Given the description of an element on the screen output the (x, y) to click on. 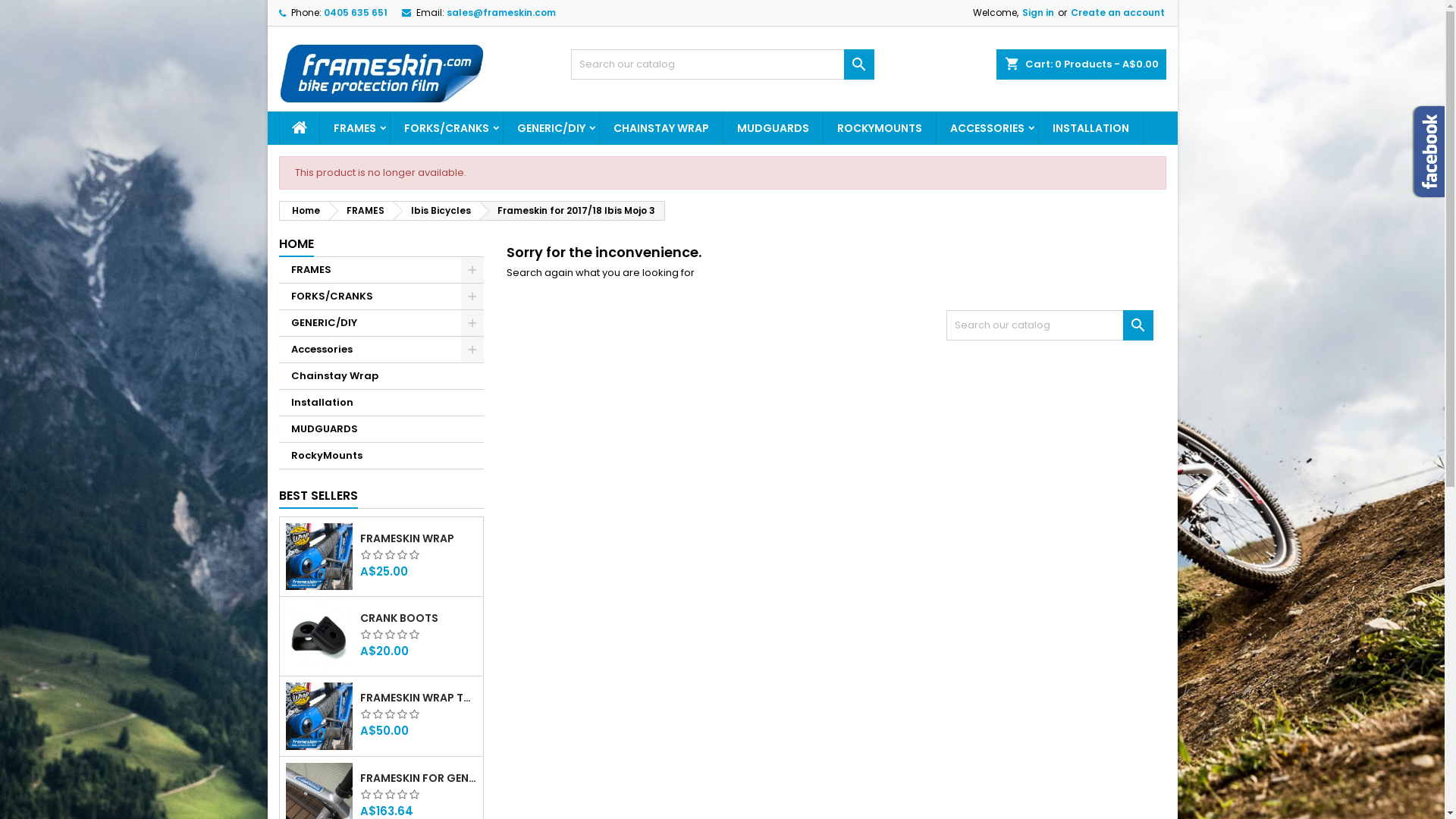
Frameskin for 2017/18 Ibis Mojo 3 Element type: text (572, 210)
Sign in Element type: text (1037, 12)
GENERIC/DIY Element type: text (551, 127)
Create an account Element type: text (1117, 12)
Home Element type: text (302, 210)
FRAMES Element type: text (381, 270)
FRAMESKIN FOR GENERIC MTB Element type: text (418, 777)
Chainstay Wrap Element type: text (381, 376)
FRAMESKIN WRAP TWIN PACK Element type: text (418, 697)
FORKS/CRANKS Element type: text (381, 296)
HOME Element type: text (296, 244)
CHAINSTAY WRAP Element type: text (660, 127)
MUDGUARDS Element type: text (772, 127)
FORKS/CRANKS Element type: text (445, 127)
Installation Element type: text (381, 402)
FRAMES Element type: text (360, 210)
GENERIC/DIY Element type: text (381, 323)
MUDGUARDS Element type: text (381, 429)
sales@frameskin.com Element type: text (500, 12)
shopping_cart
Cart: 0 Products - A$0.00 Element type: text (1081, 64)
Accessories Element type: text (381, 349)
FRAMESKIN WRAP Element type: text (418, 538)
Ibis Bicycles Element type: text (436, 210)
BEST SELLERS Element type: text (318, 496)
ROCKYMOUNTS Element type: text (879, 127)
FRAMES Element type: text (354, 127)
INSTALLATION Element type: text (1090, 127)
CRANK BOOTS Element type: text (418, 617)
ACCESSORIES Element type: text (986, 127)
RockyMounts Element type: text (381, 455)
